Given the description of an element on the screen output the (x, y) to click on. 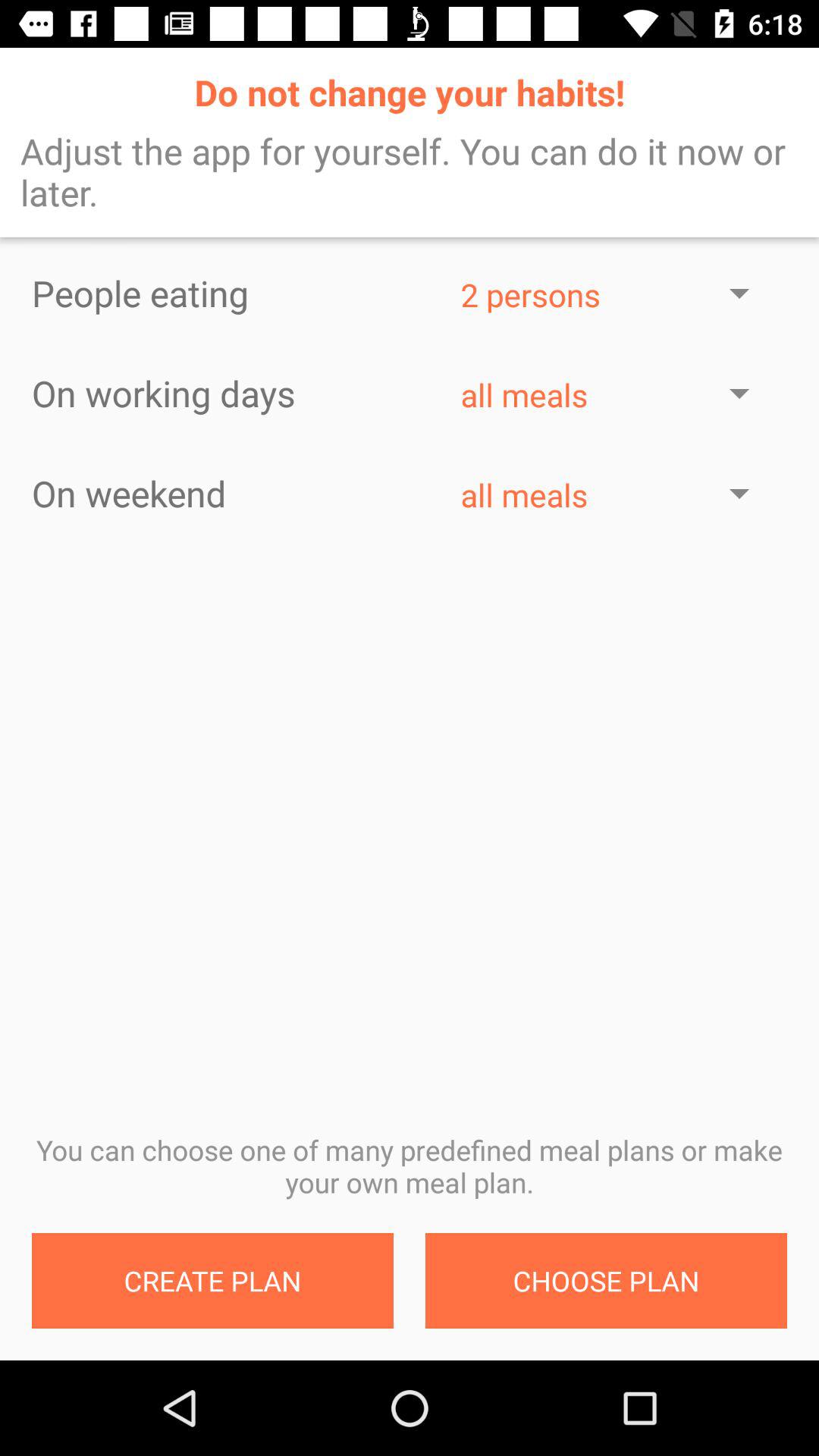
flip until the create plan item (212, 1280)
